Given the description of an element on the screen output the (x, y) to click on. 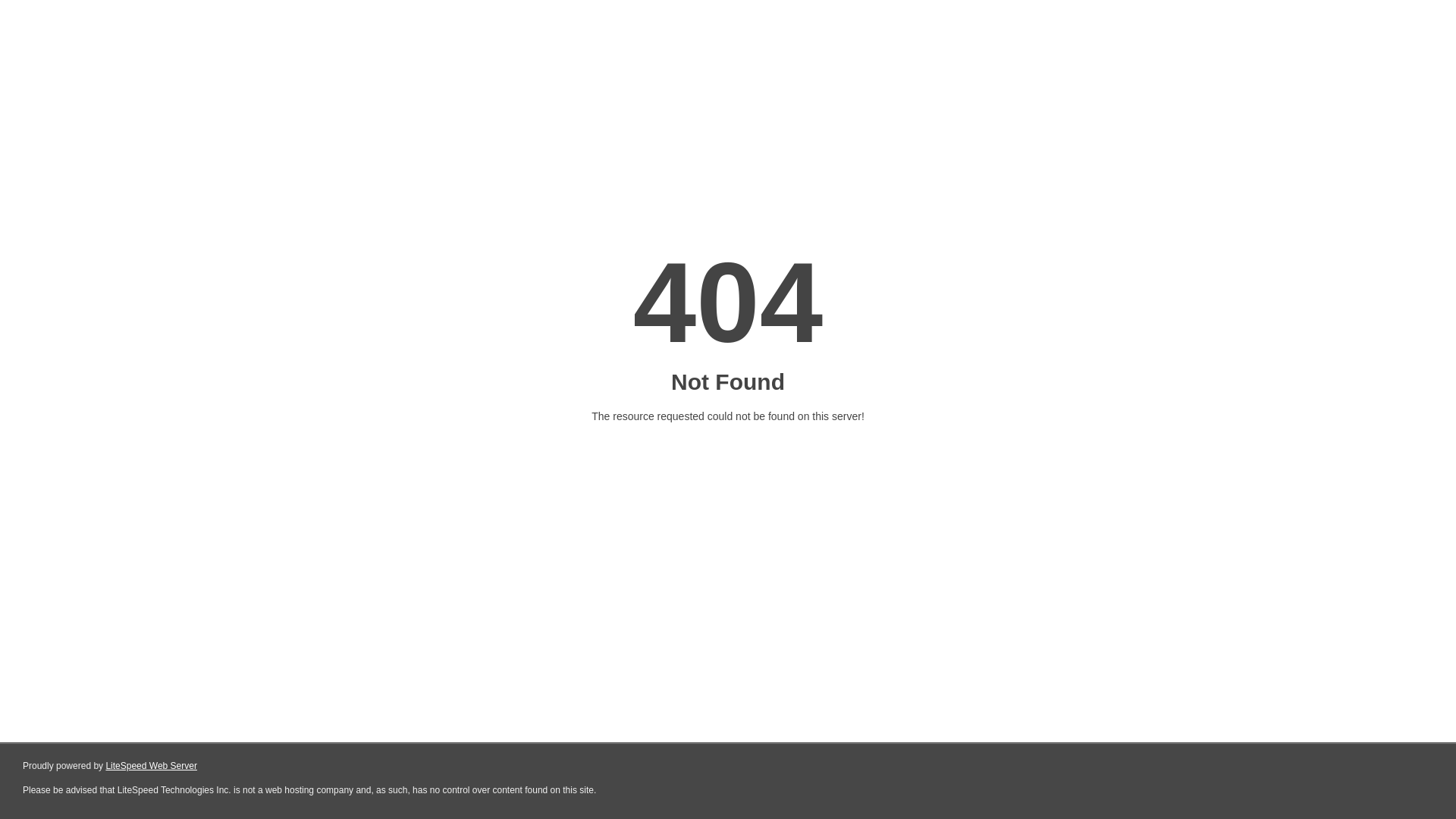
LiteSpeed Web Server Element type: text (151, 765)
